Given the description of an element on the screen output the (x, y) to click on. 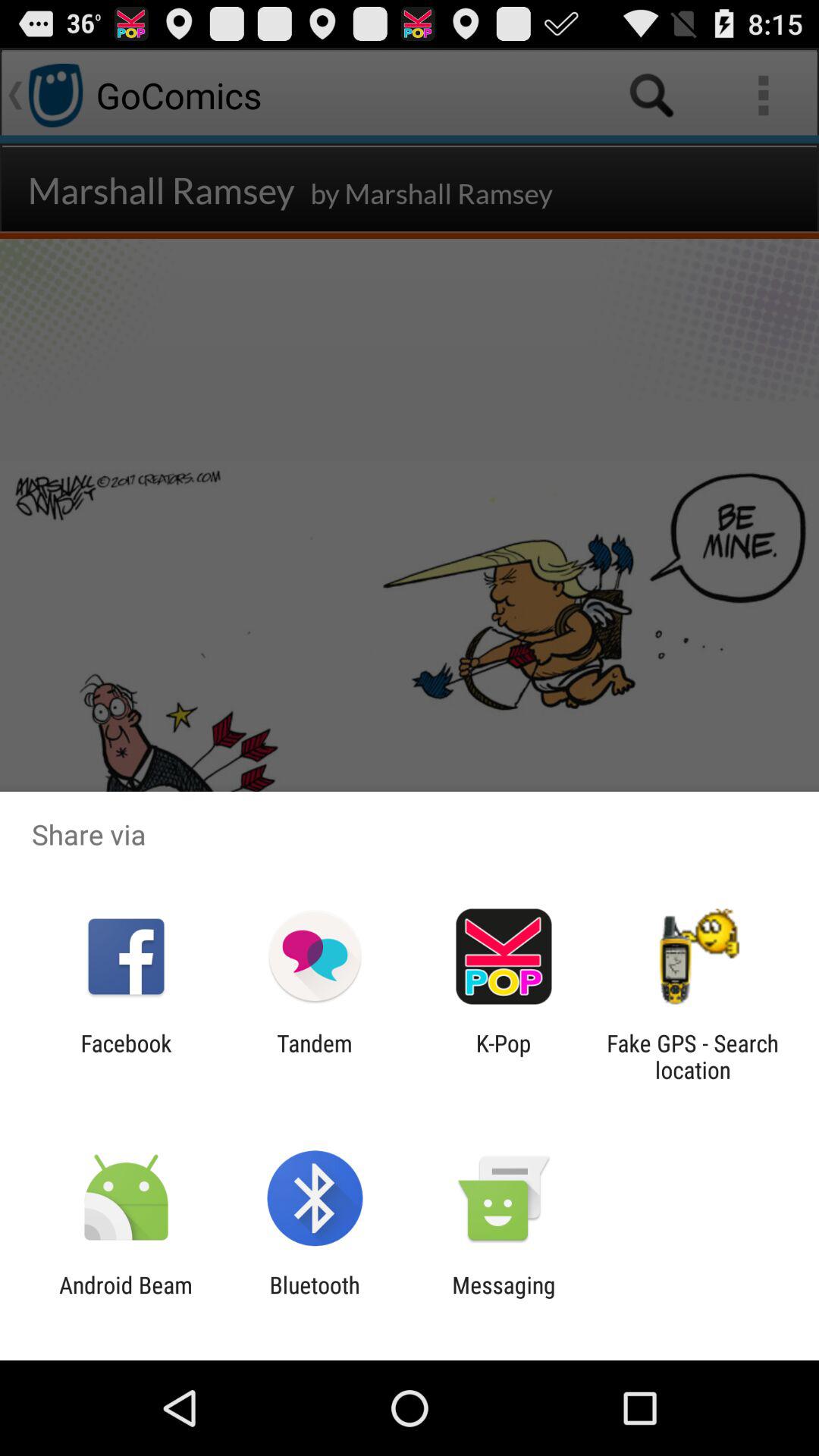
press item next to the android beam icon (314, 1298)
